Given the description of an element on the screen output the (x, y) to click on. 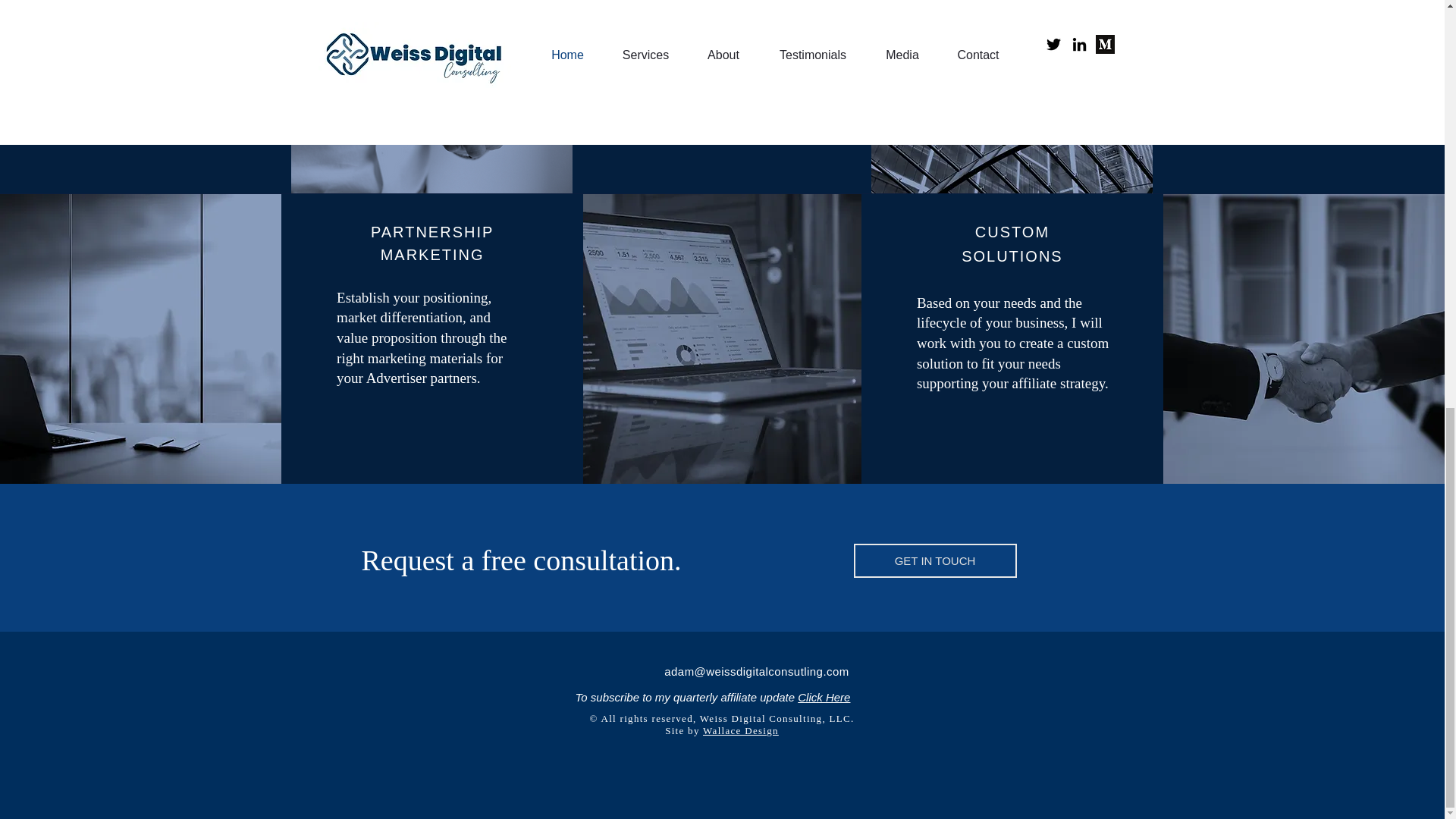
Click Here (823, 697)
GET IN TOUCH (934, 560)
Wallace Design (740, 730)
